Given the description of an element on the screen output the (x, y) to click on. 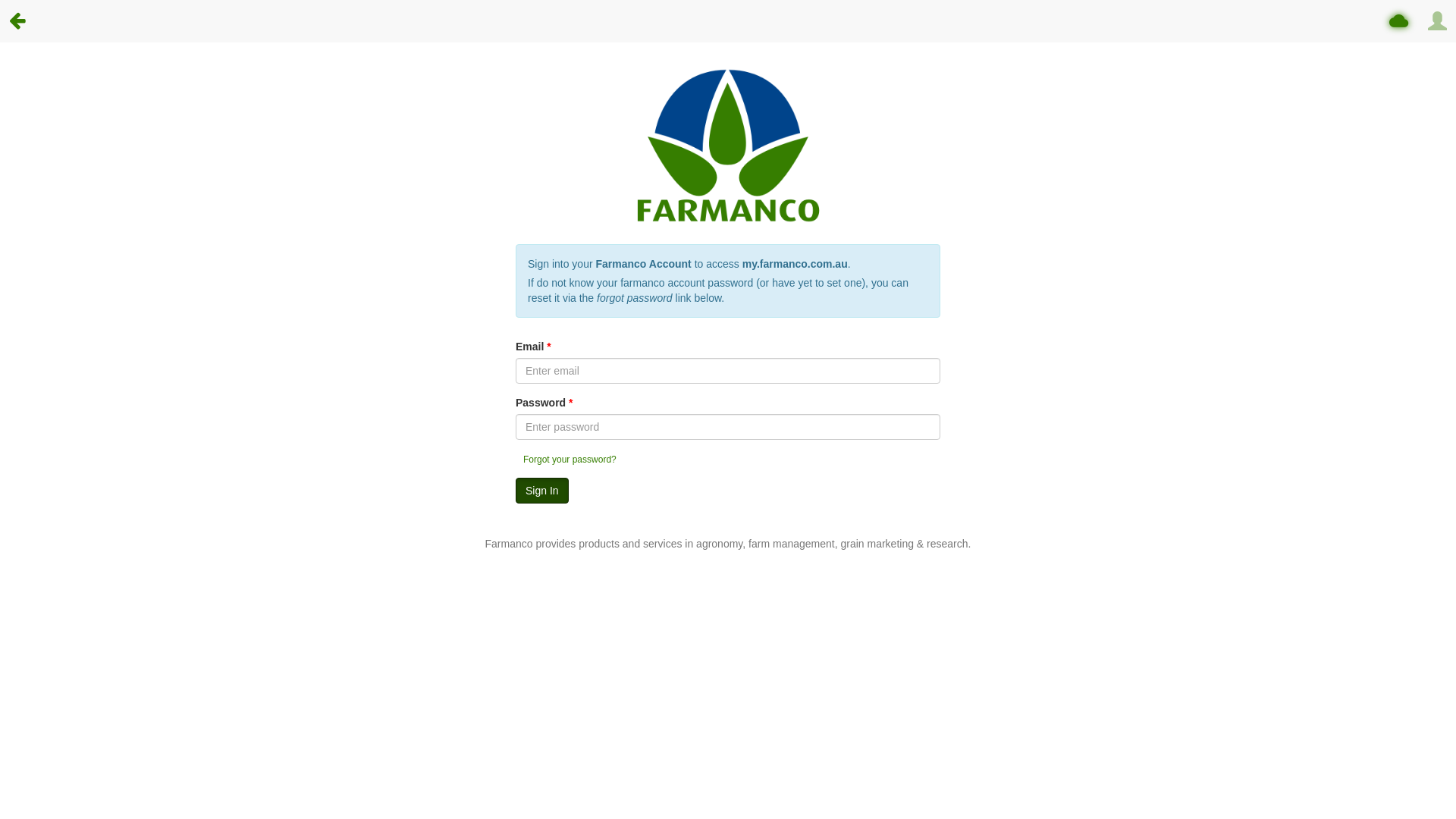
Forgot your password? Element type: text (569, 459)
Sign In Element type: text (541, 490)
